Given the description of an element on the screen output the (x, y) to click on. 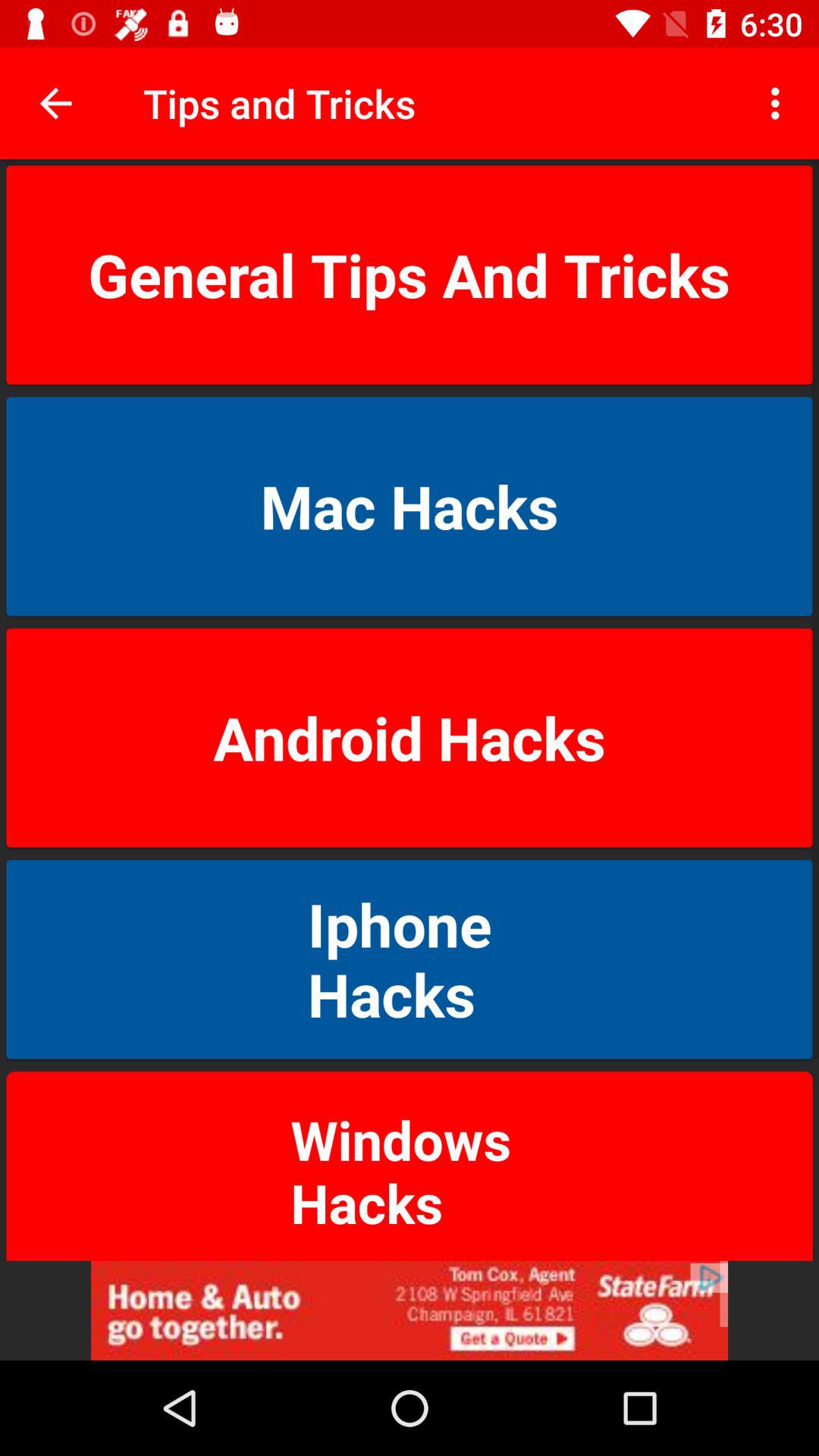
select advertisement (409, 1310)
